Given the description of an element on the screen output the (x, y) to click on. 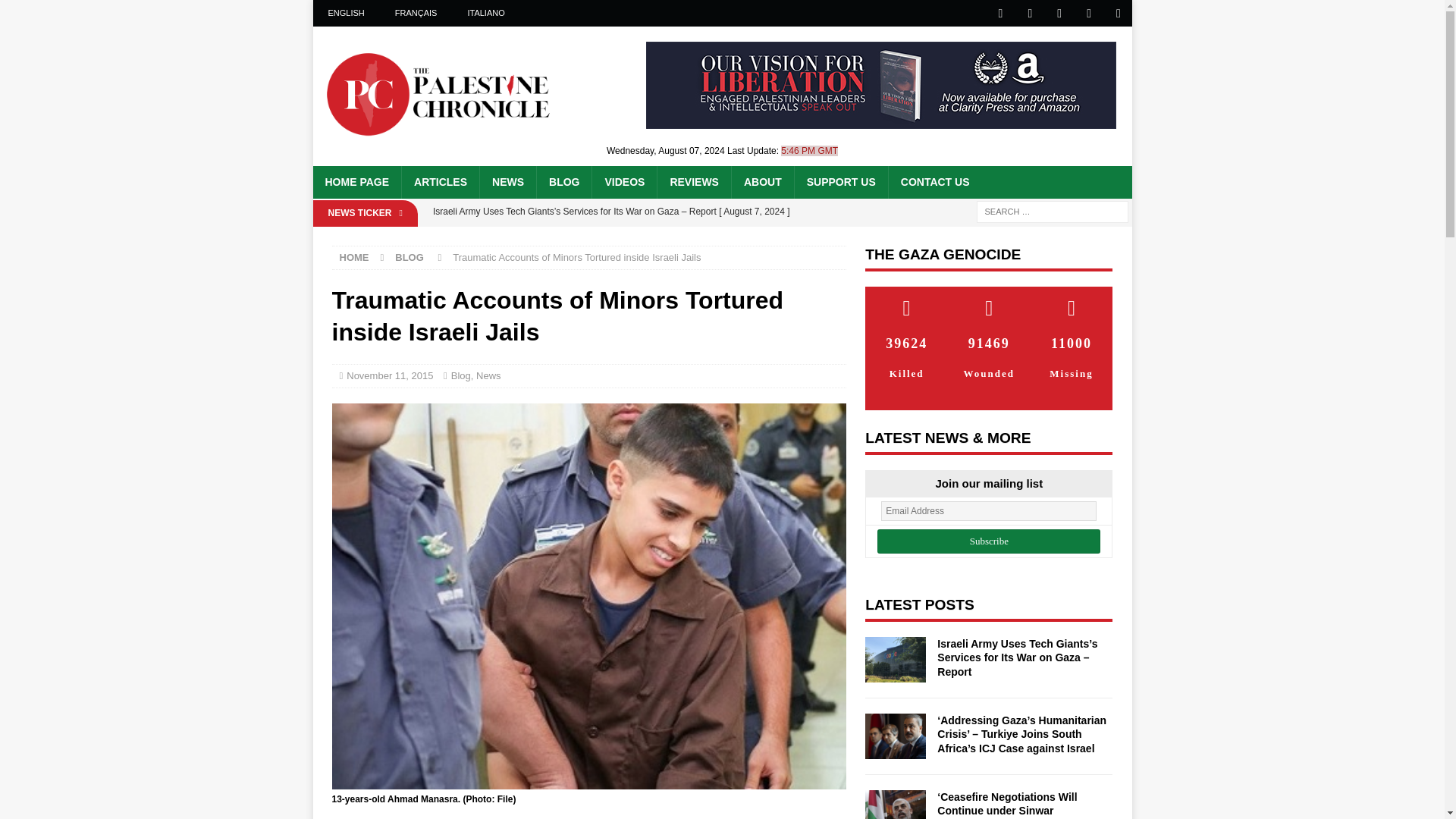
VIDEOS (623, 182)
ENGLISH (345, 13)
CONTACT US (934, 182)
NEWS (507, 182)
ITALIANO (485, 13)
Subscribe (988, 541)
HOME (354, 256)
REVIEWS (693, 182)
SUPPORT US (840, 182)
ARTICLES (440, 182)
Search (56, 11)
ABOUT (761, 182)
BLOG (563, 182)
HOME PAGE (357, 182)
